Given the description of an element on the screen output the (x, y) to click on. 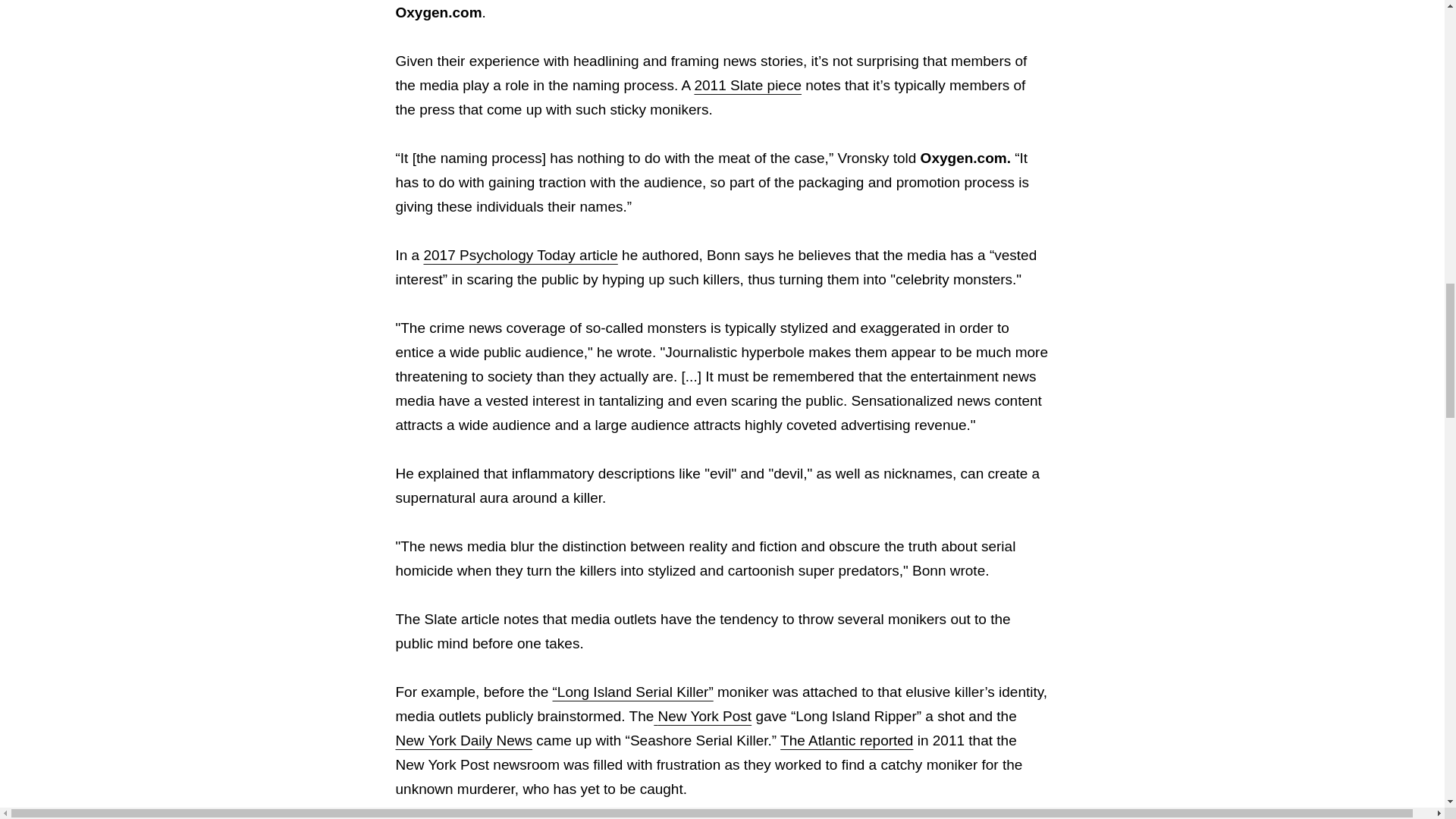
New York Daily News (706, 752)
The Atlantic reported (846, 740)
New York Post (702, 715)
2011 Slate piece (748, 84)
2017 Psychology Today article (520, 254)
